Given the description of an element on the screen output the (x, y) to click on. 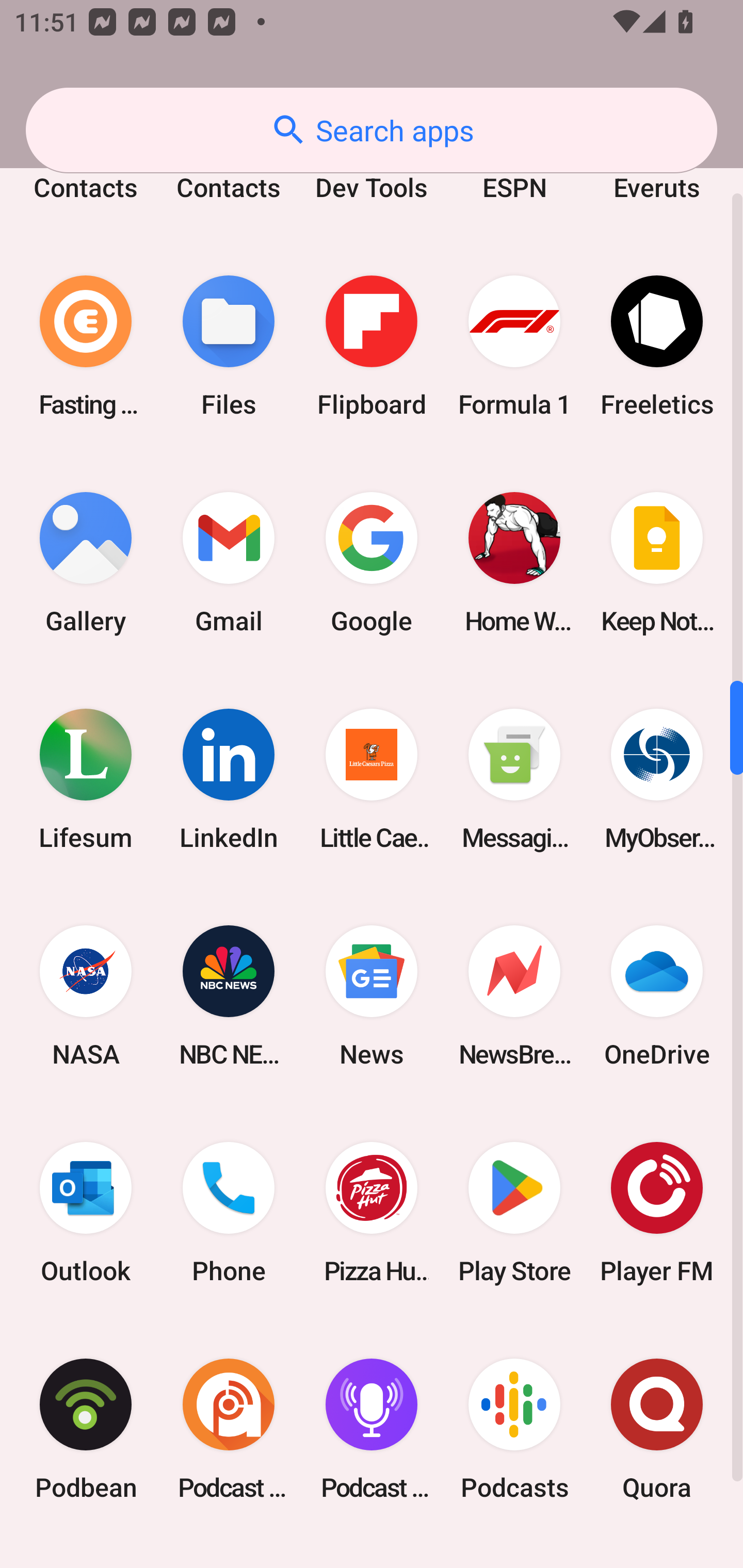
  Search apps (371, 130)
Fasting Coach (85, 346)
Files (228, 346)
Flipboard (371, 346)
Formula 1 (514, 346)
Freeletics (656, 346)
Gallery (85, 562)
Gmail (228, 562)
Google (371, 562)
Home Workout (514, 562)
Keep Notes (656, 562)
Lifesum (85, 779)
LinkedIn (228, 779)
Little Caesars Pizza (371, 779)
Messaging (514, 779)
MyObservatory (656, 779)
NASA (85, 995)
NBC NEWS (228, 995)
News (371, 995)
NewsBreak (514, 995)
OneDrive (656, 995)
Outlook (85, 1211)
Phone (228, 1211)
Pizza Hut HK & Macau (371, 1211)
Play Store (514, 1211)
Player FM (656, 1211)
Podbean (85, 1429)
Podcast Addict (228, 1429)
Podcast Player (371, 1429)
Podcasts (514, 1429)
Quora (656, 1429)
